Given the description of an element on the screen output the (x, y) to click on. 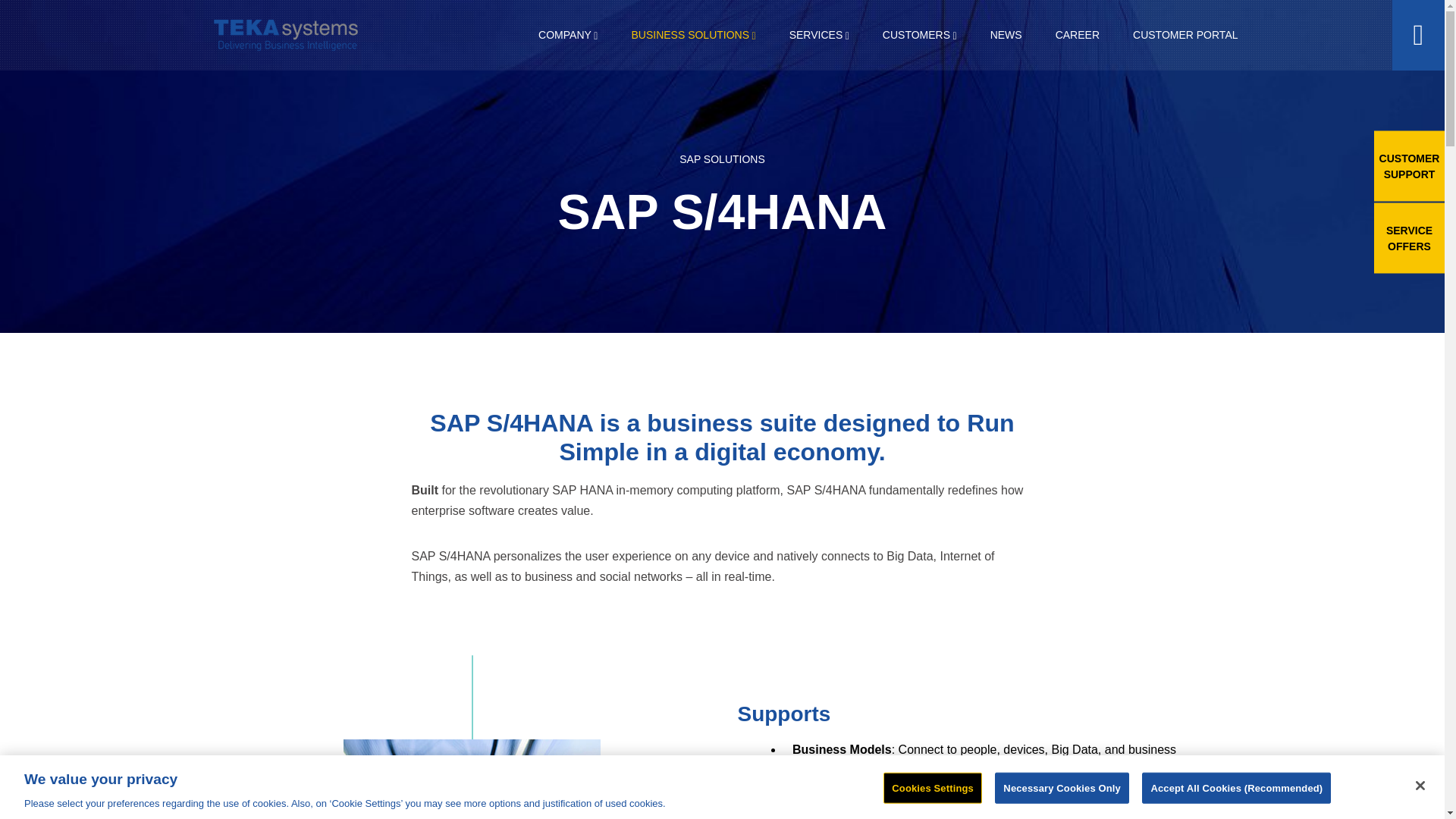
CAREER (1078, 34)
TEKA Systems - Home page (284, 34)
BUSINESS SOLUTIONS (692, 34)
SERVICES (819, 34)
COMPANY (567, 34)
